Given the description of an element on the screen output the (x, y) to click on. 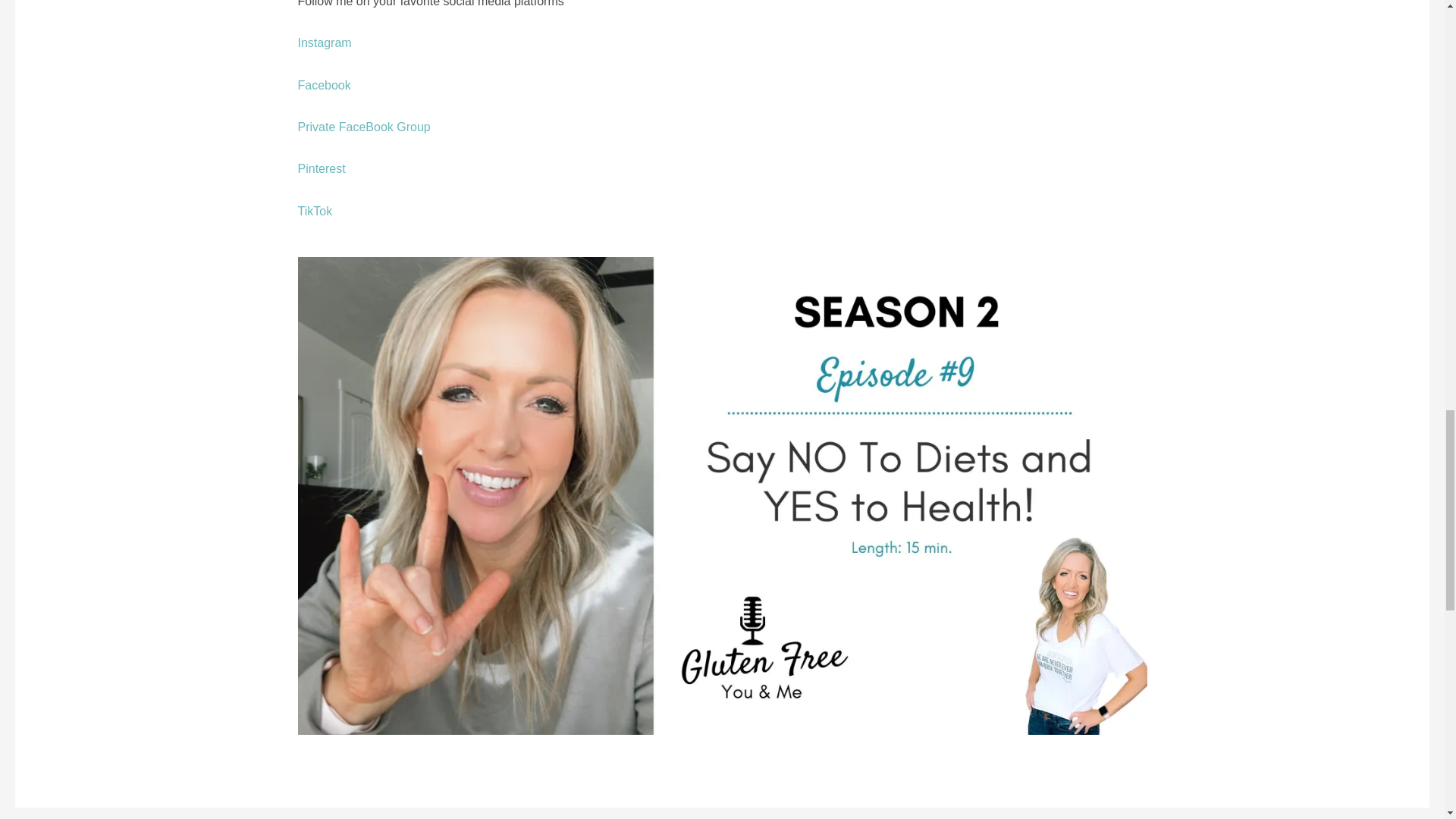
Pinterest (321, 168)
Facebook (323, 84)
TikTok (314, 210)
Instagram (323, 42)
Private FaceBook Group (363, 126)
